Given the description of an element on the screen output the (x, y) to click on. 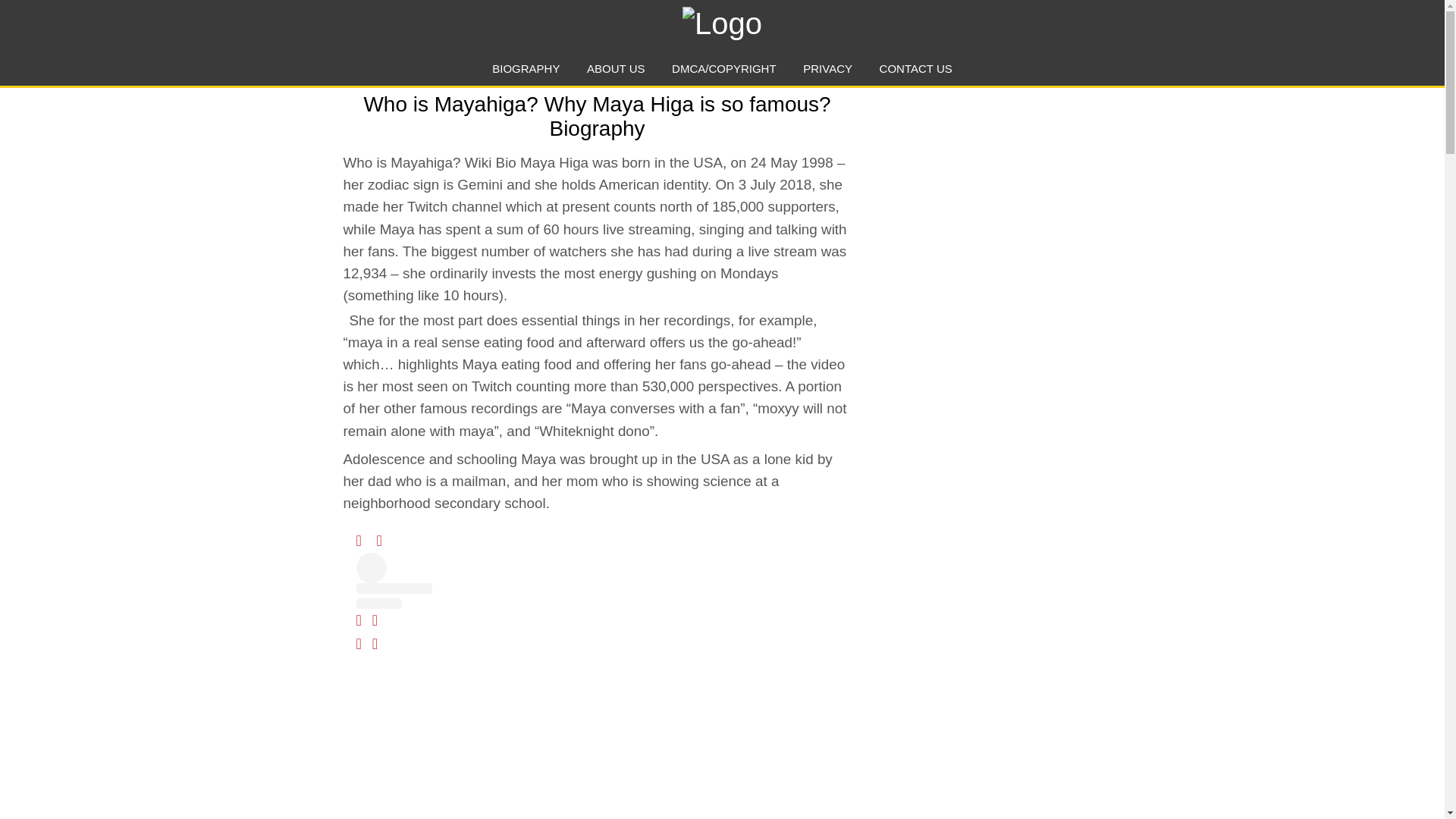
BIOGRAPHY (525, 68)
PRIVACY (827, 68)
anasayfa (721, 20)
CONTACT US (915, 68)
ABOUT US (615, 68)
